Given the description of an element on the screen output the (x, y) to click on. 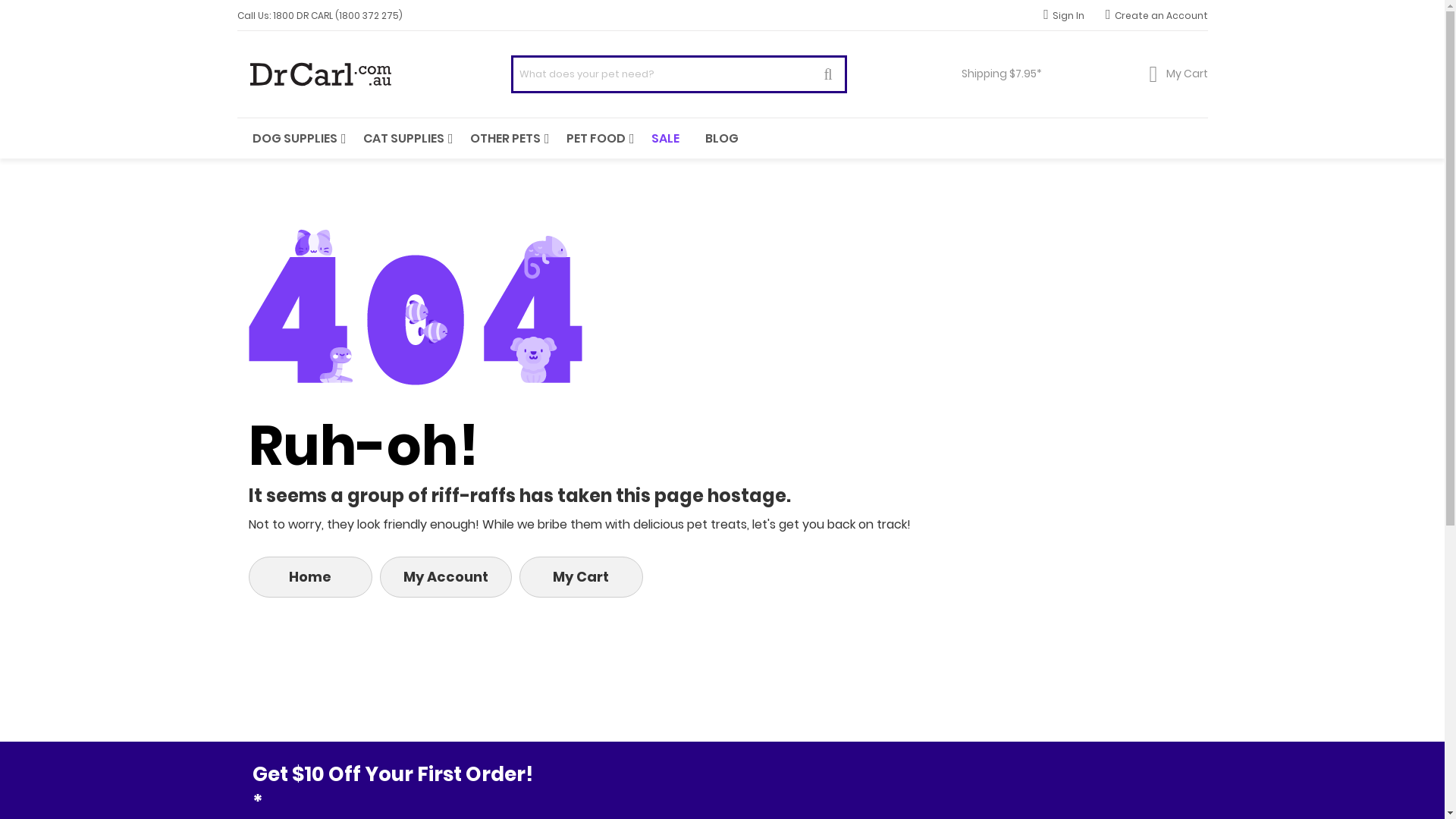
DOG SUPPLIES Element type: text (293, 138)
PET FOOD Element type: text (594, 138)
Create an Account Element type: text (1156, 15)
BLOG Element type: text (721, 138)
Call Us: 1800 DR CARL (1800 372 275) Element type: text (318, 15)
My Account Element type: text (445, 576)
Search Element type: text (828, 74)
Shipping $7.95* Element type: text (997, 73)
OTHER PETS Element type: text (505, 138)
My Cart Element type: text (1177, 74)
My Cart Element type: text (580, 576)
CAT SUPPLIES Element type: text (402, 138)
Home Element type: text (310, 576)
SALE Element type: text (664, 138)
Sign In Element type: text (1063, 15)
